Given the description of an element on the screen output the (x, y) to click on. 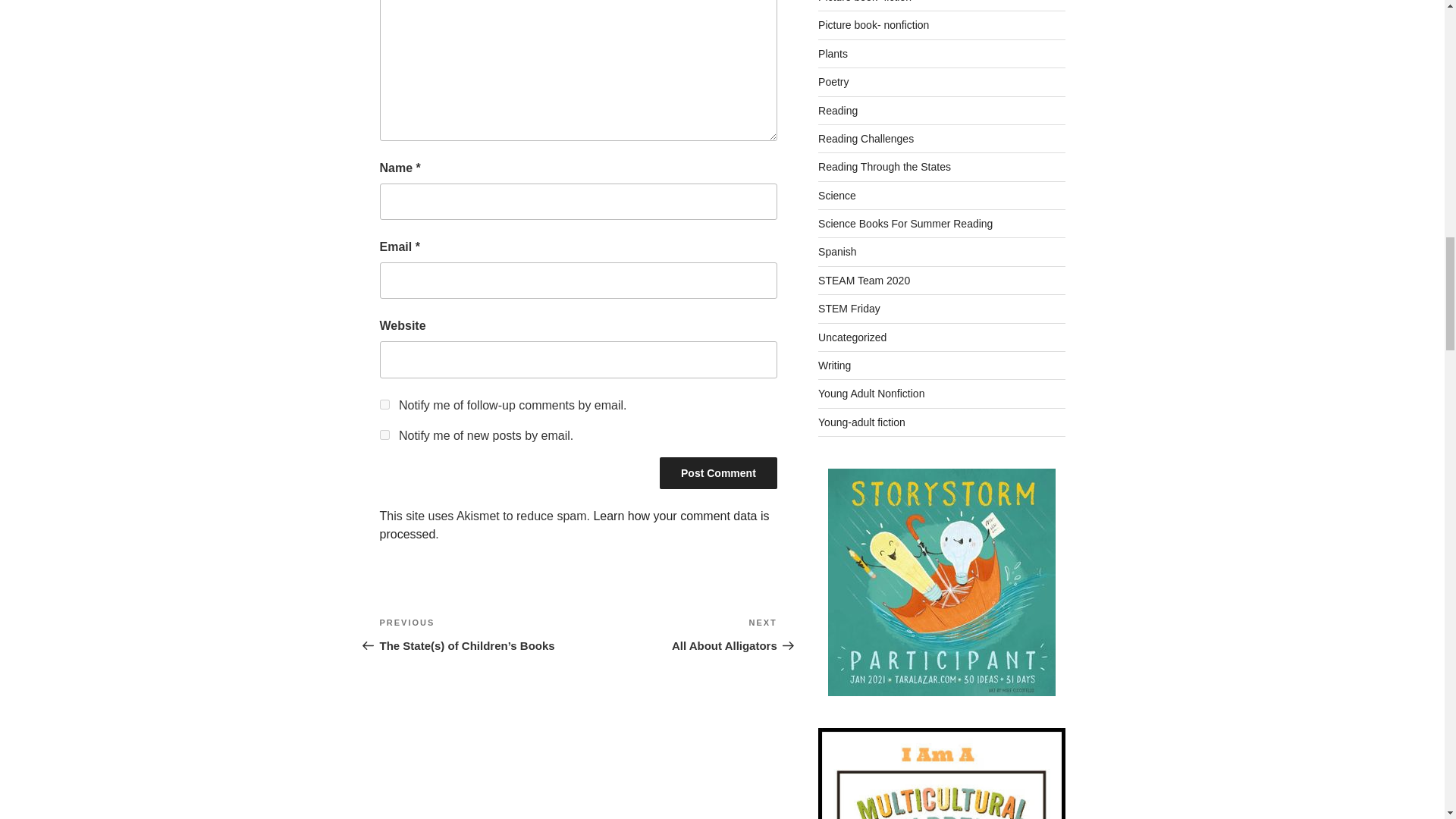
Post Comment (718, 472)
subscribe (383, 434)
Post Comment (718, 472)
Learn how your comment data is processed (677, 634)
subscribe (573, 524)
